Given the description of an element on the screen output the (x, y) to click on. 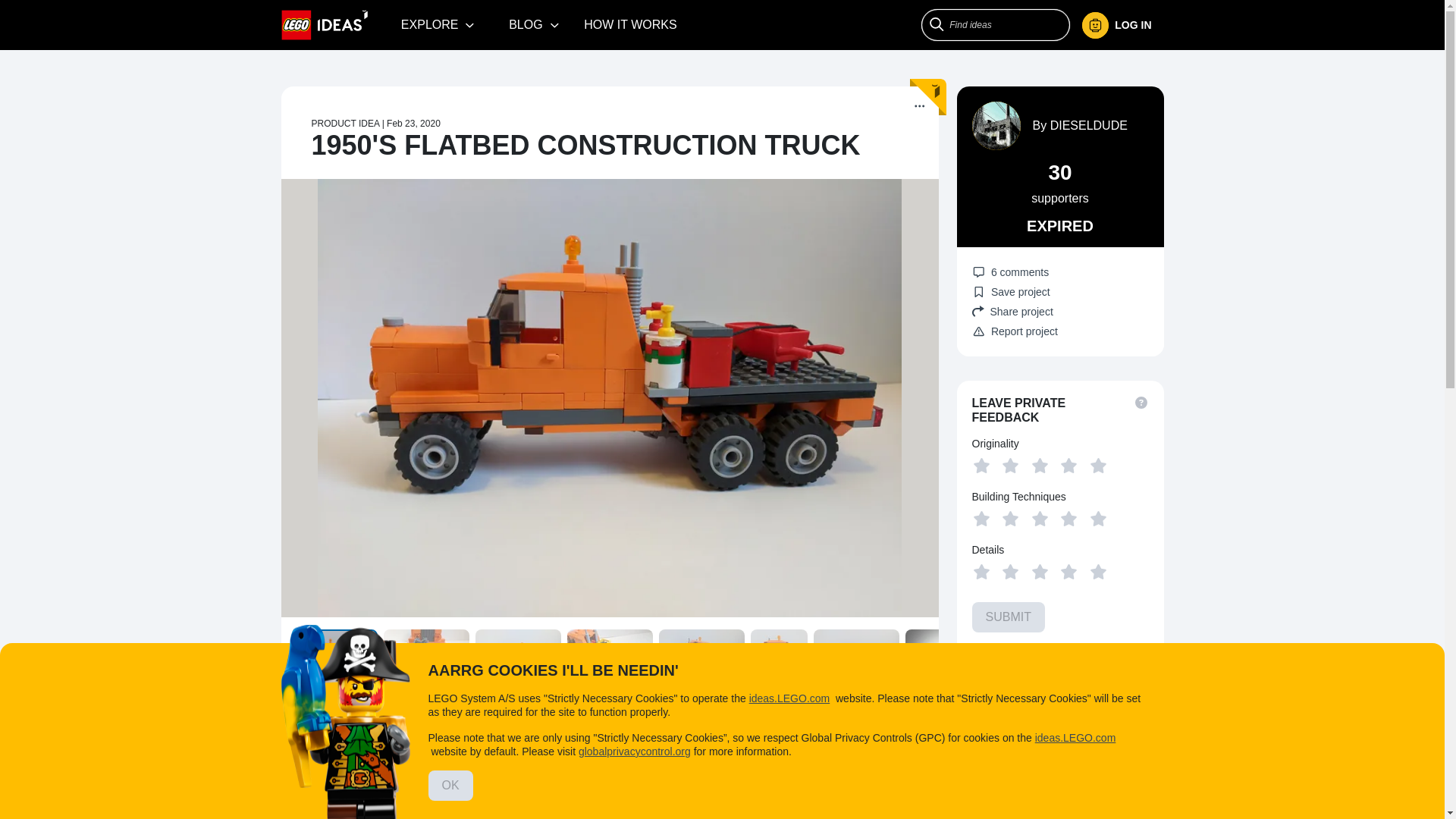
Me (1116, 25)
DESCRIPTION (331, 732)
STATISTICS (788, 731)
EXPLORE (437, 24)
OFFICIAL LEGO COMMENTS 1 (657, 731)
How It Works (630, 24)
LOG IN (1122, 25)
DIESELDUDE (1087, 124)
BLOG (534, 24)
COMMENTS 6 (515, 731)
UPDATES 0 (422, 731)
Save project (1010, 291)
Share project (1060, 311)
